Given the description of an element on the screen output the (x, y) to click on. 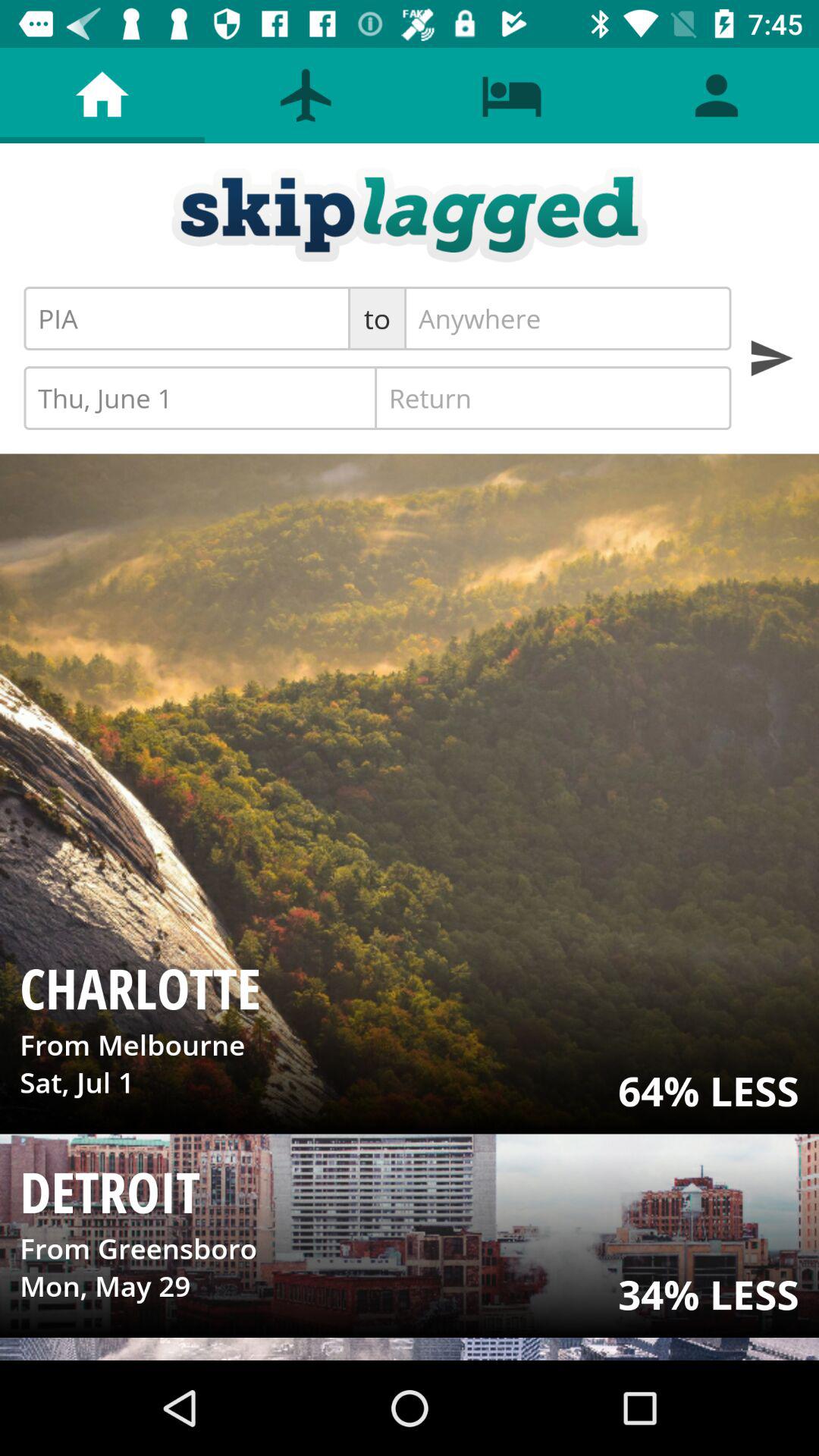
turn off the item next to the to icon (567, 318)
